Given the description of an element on the screen output the (x, y) to click on. 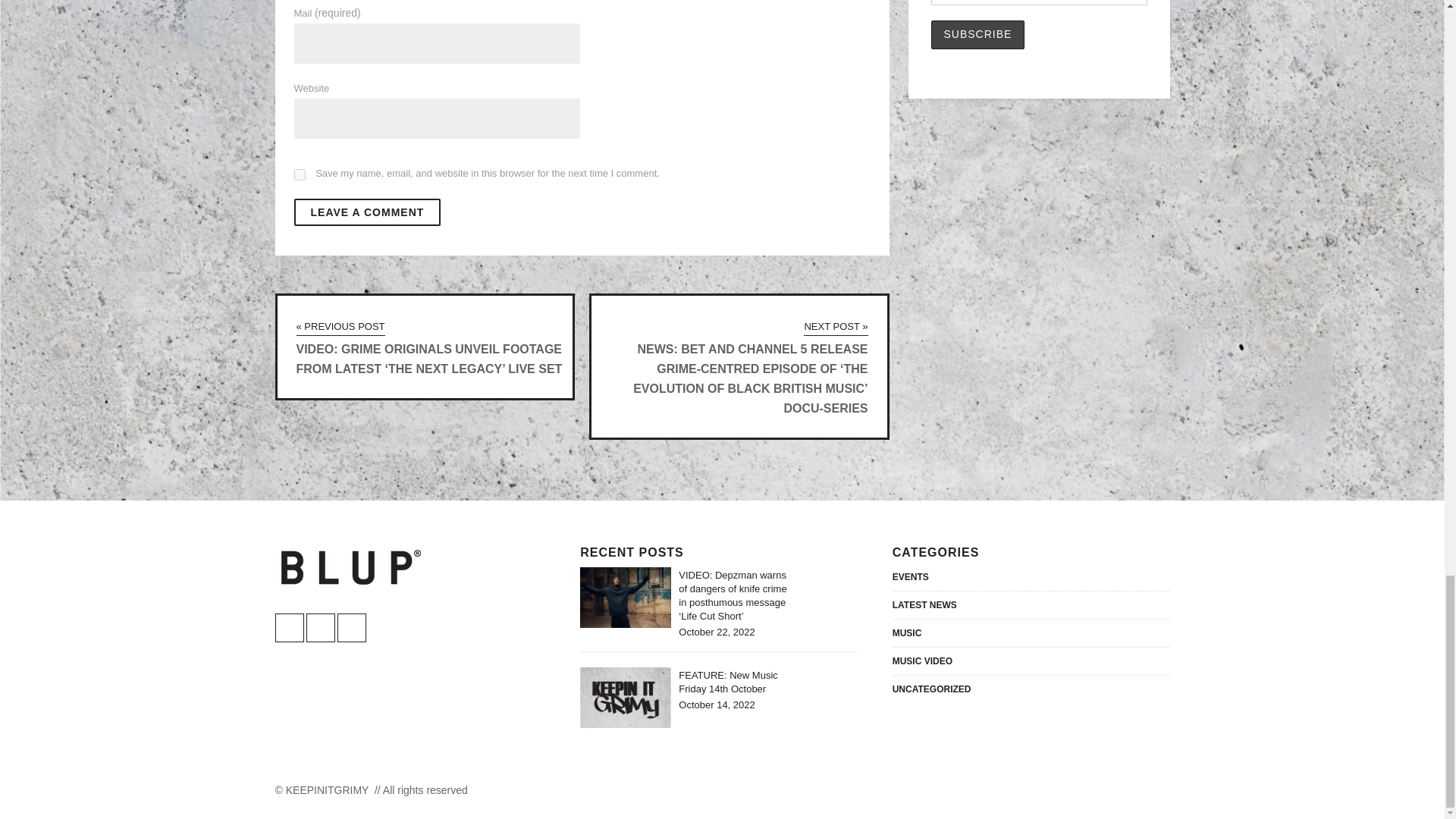
yes (299, 173)
Subscribe (978, 34)
Leave a Comment (367, 212)
Leave a Comment (367, 212)
